Given the description of an element on the screen output the (x, y) to click on. 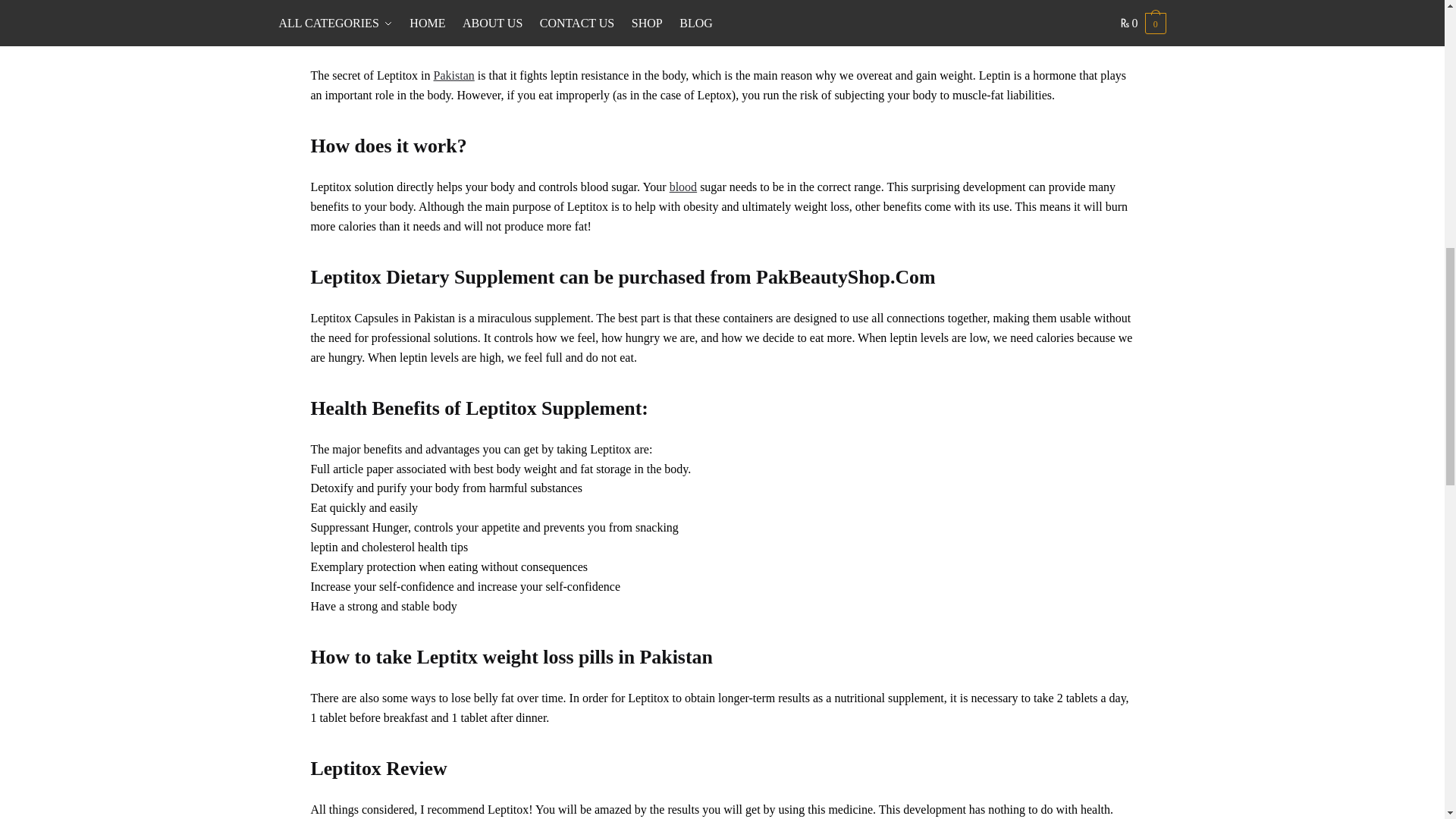
blood (683, 186)
Pakistan (453, 74)
